Given the description of an element on the screen output the (x, y) to click on. 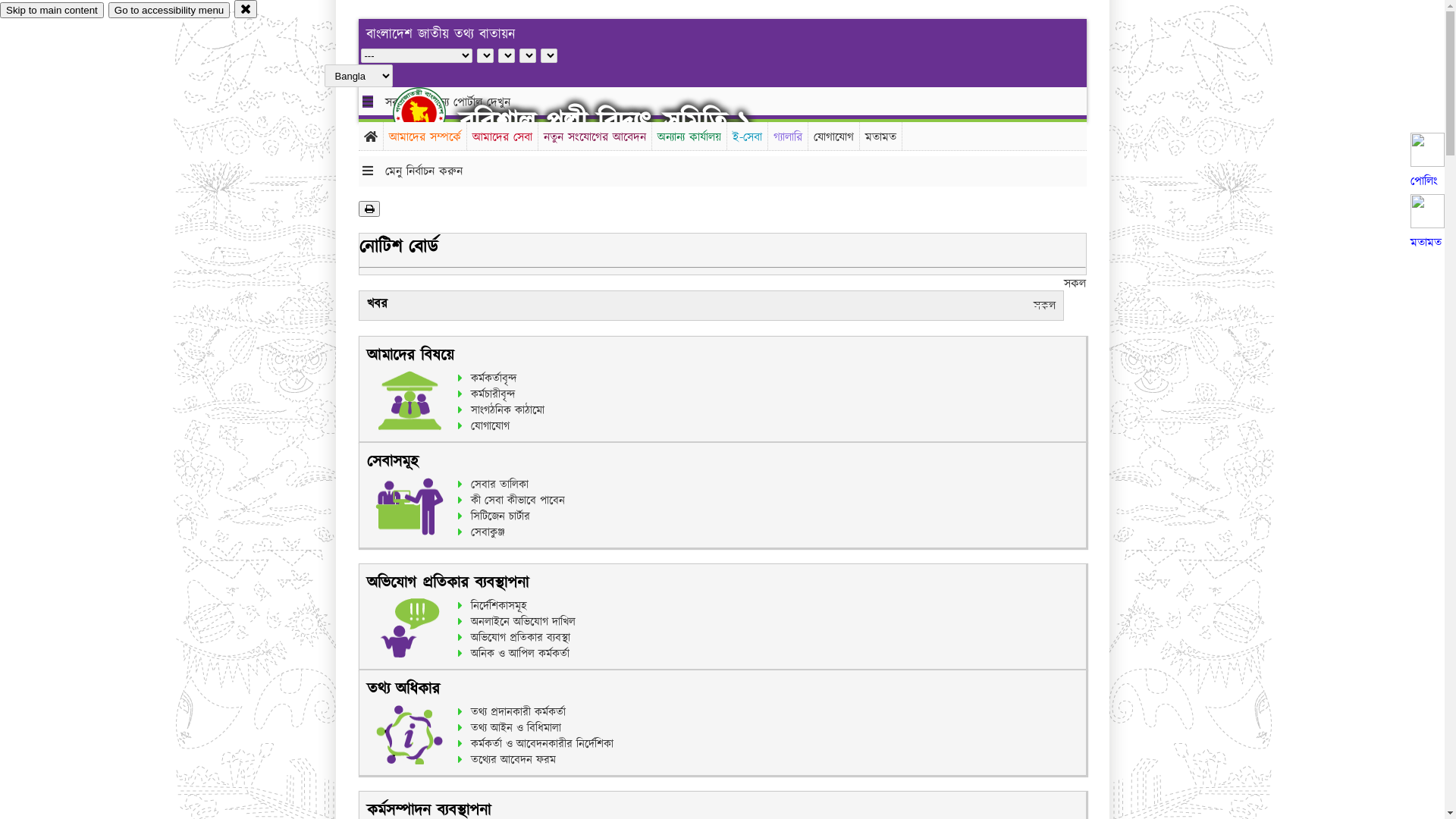
Skip to main content Element type: text (51, 10)

                
             Element type: hover (431, 112)
close Element type: hover (245, 9)
Go to accessibility menu Element type: text (168, 10)
